Given the description of an element on the screen output the (x, y) to click on. 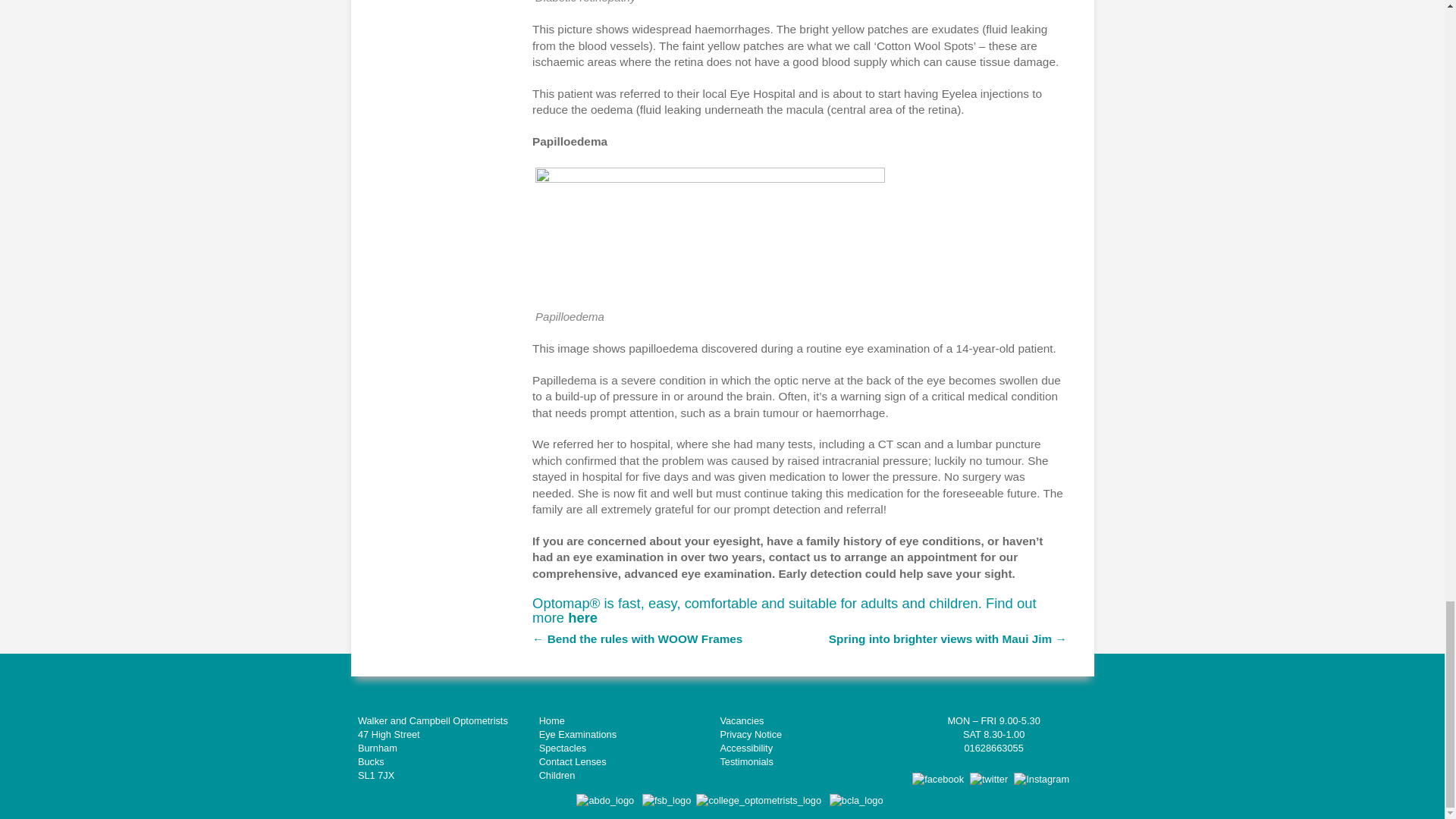
Vacancies (740, 720)
here (581, 617)
Contact Lenses (572, 761)
Eye Examinations (576, 734)
Home (551, 720)
Accessibility (746, 747)
Children (556, 775)
Spectacles (562, 747)
Testimonials (746, 761)
01628663055 (993, 747)
